Given the description of an element on the screen output the (x, y) to click on. 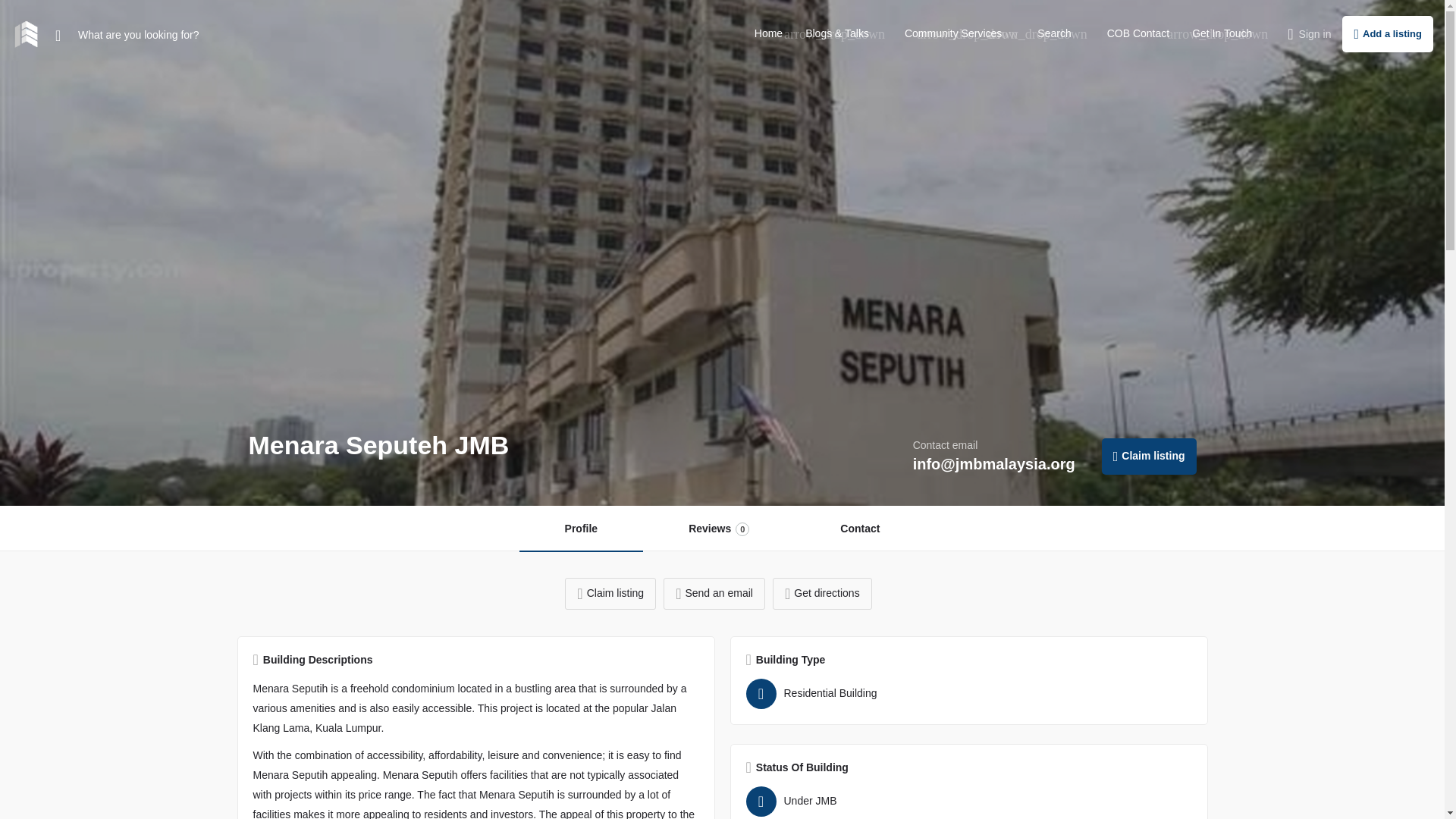
Community Services (952, 32)
Claim listing (1149, 456)
Search (1053, 32)
Sign in (1315, 33)
Get In Touch (1222, 32)
Home (768, 32)
COB Contact (1137, 32)
Add a listing (1387, 33)
